Given the description of an element on the screen output the (x, y) to click on. 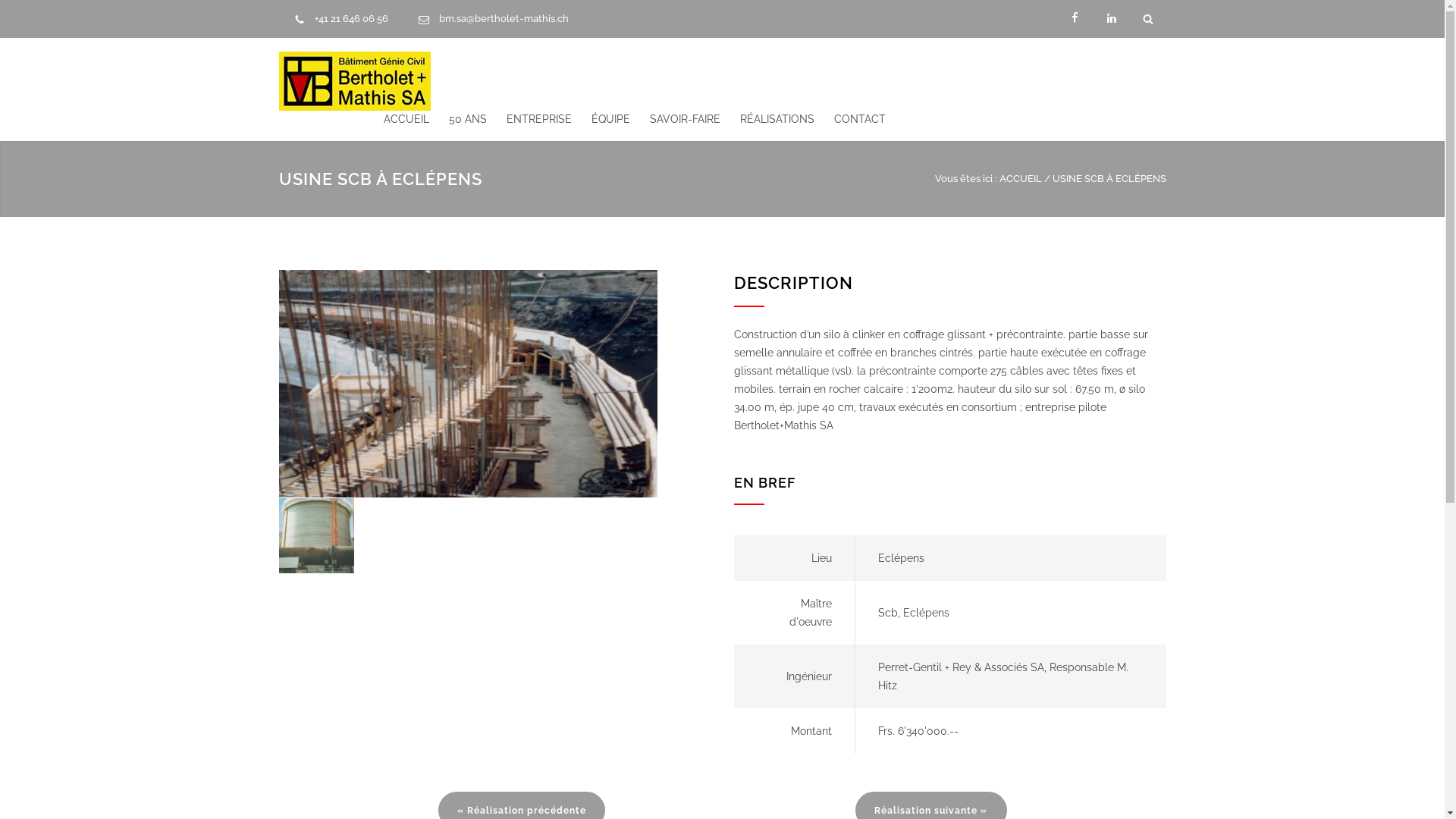
CONTACT Element type: text (849, 118)
ACCUEIL Element type: text (406, 118)
ENTREPRISE Element type: text (528, 118)
50 ANS Element type: text (457, 118)
+41 21 646 06 56 Element type: text (350, 18)
SAVOIR-FAIRE Element type: text (674, 118)
Bertholet+Mathis SA Element type: hover (354, 70)
bm.sa@bertholet-mathis.ch Element type: text (502, 18)
Search Element type: hover (1147, 18)
ACCUEIL Element type: text (1020, 178)
